Given the description of an element on the screen output the (x, y) to click on. 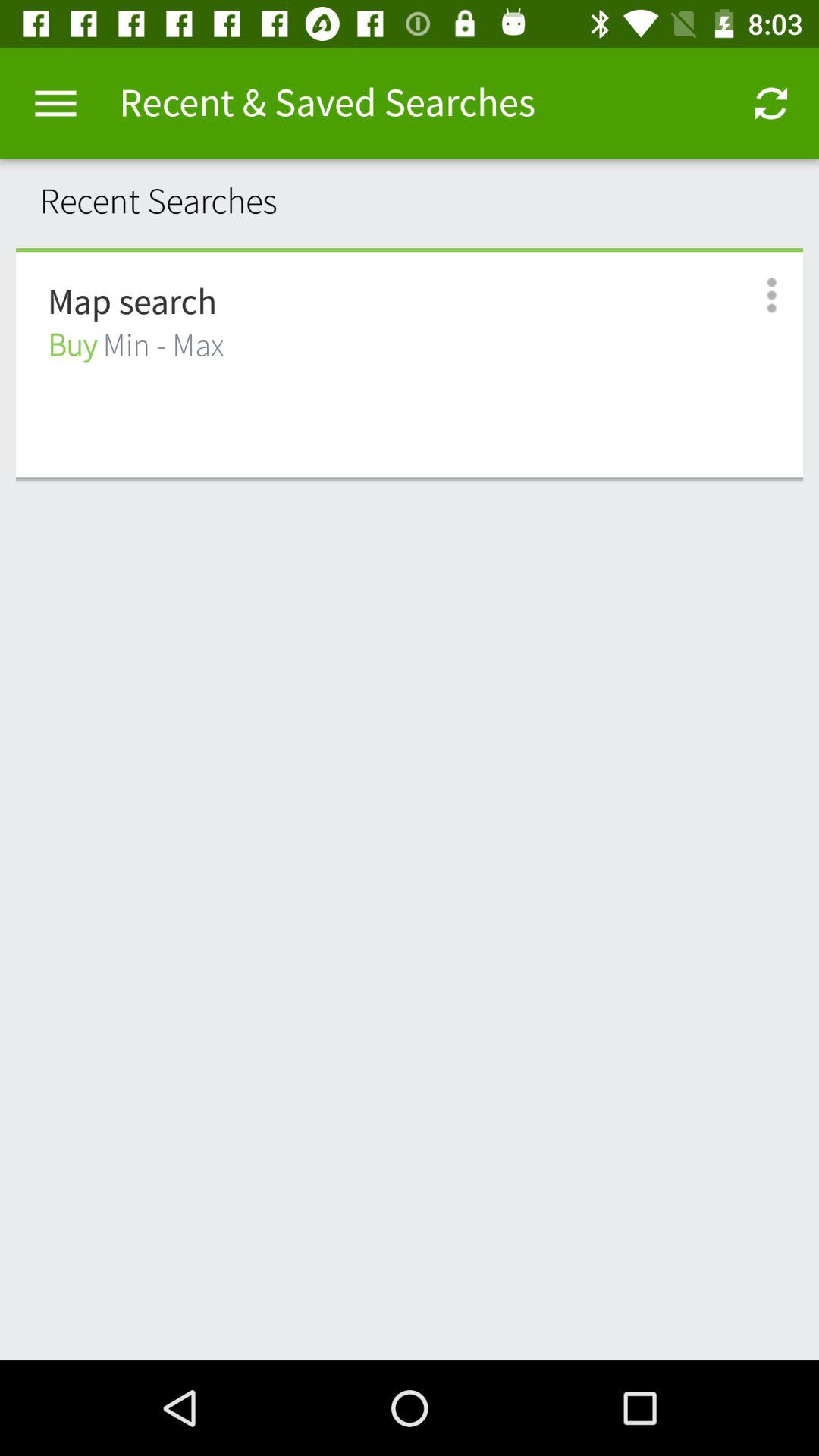
see menu (755, 295)
